Given the description of an element on the screen output the (x, y) to click on. 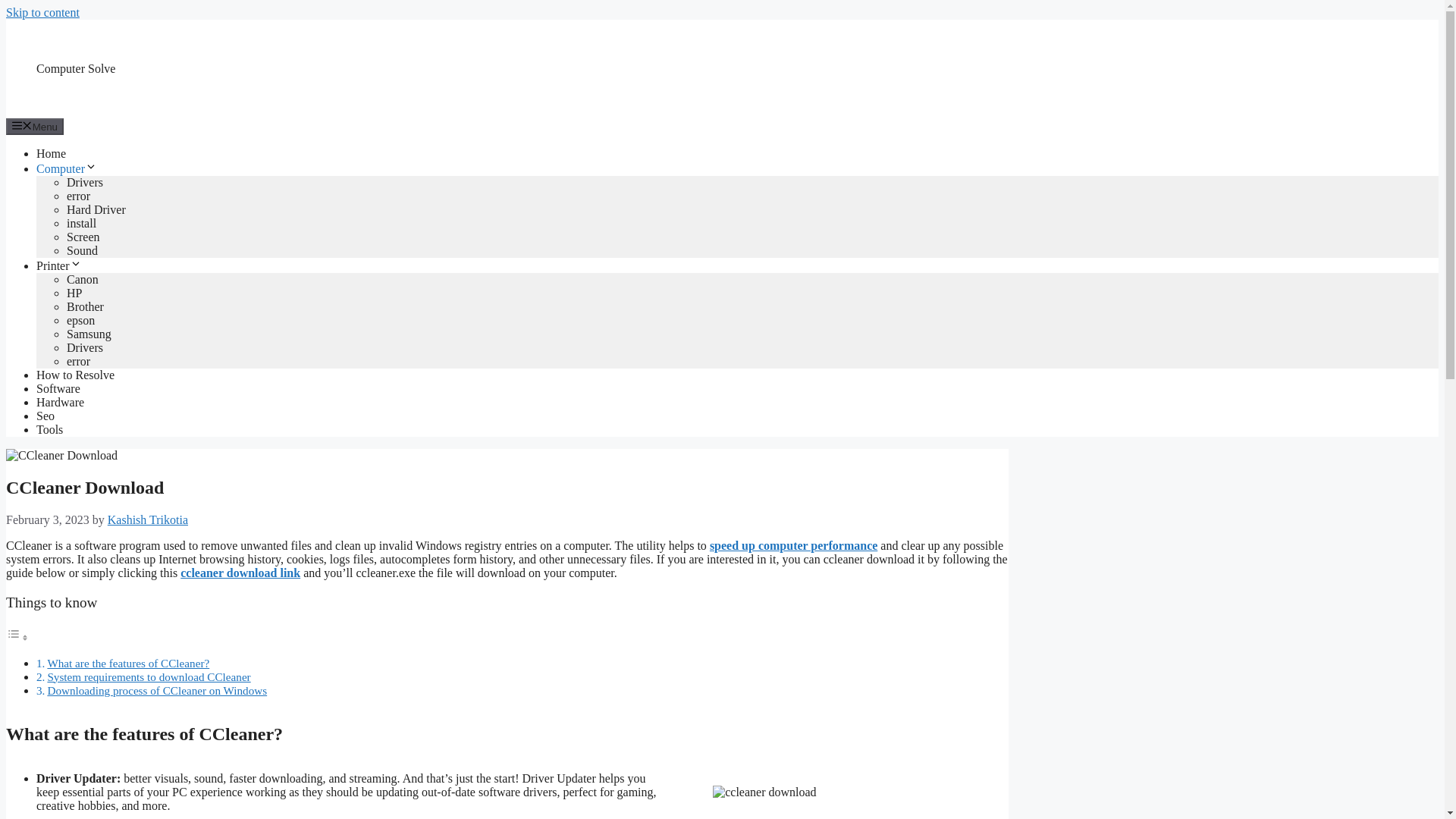
install (81, 223)
Computer Solve (75, 68)
What are the features of CCleaner? (127, 662)
error (78, 195)
Seo (45, 415)
Drivers (84, 182)
System requirements to download CCleaner (148, 676)
speed up computer performance (793, 545)
Brother (84, 306)
Downloading process of CCleaner on Windows (156, 689)
epson (80, 319)
Software (58, 388)
How to Resolve (75, 374)
Printer (58, 265)
What are the features of CCleaner? (127, 662)
